Given the description of an element on the screen output the (x, y) to click on. 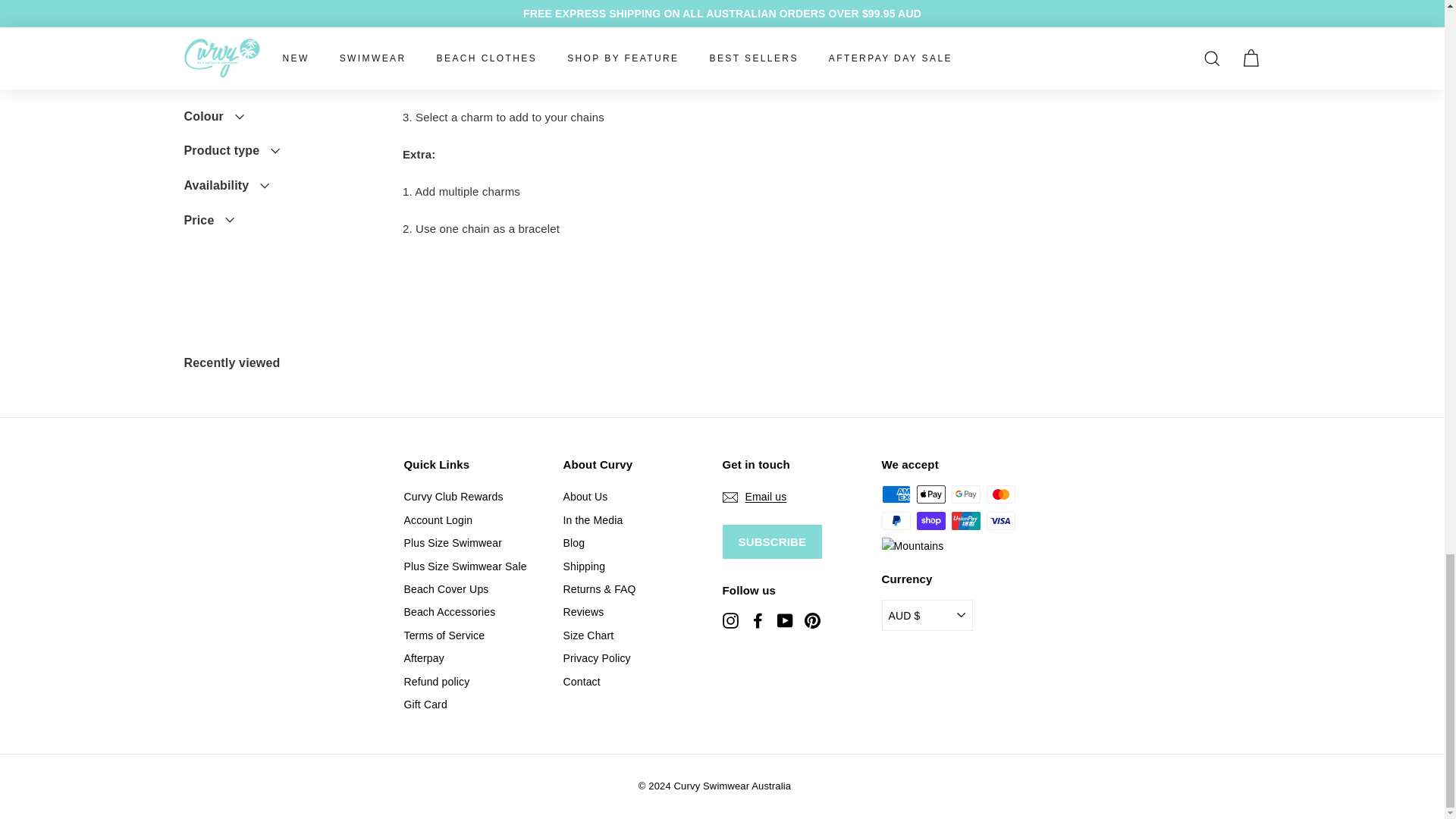
Google Pay (964, 494)
PayPal (895, 520)
Curvy Swimwear Australia  on Facebook (757, 619)
American Express (895, 494)
Curvy Swimwear Australia  on Pinterest (811, 619)
Mastercard (999, 494)
Apple Pay (929, 494)
Curvy Swimwear Australia  on Instagram (730, 619)
Curvy Swimwear Australia  on YouTube (784, 619)
